Given the description of an element on the screen output the (x, y) to click on. 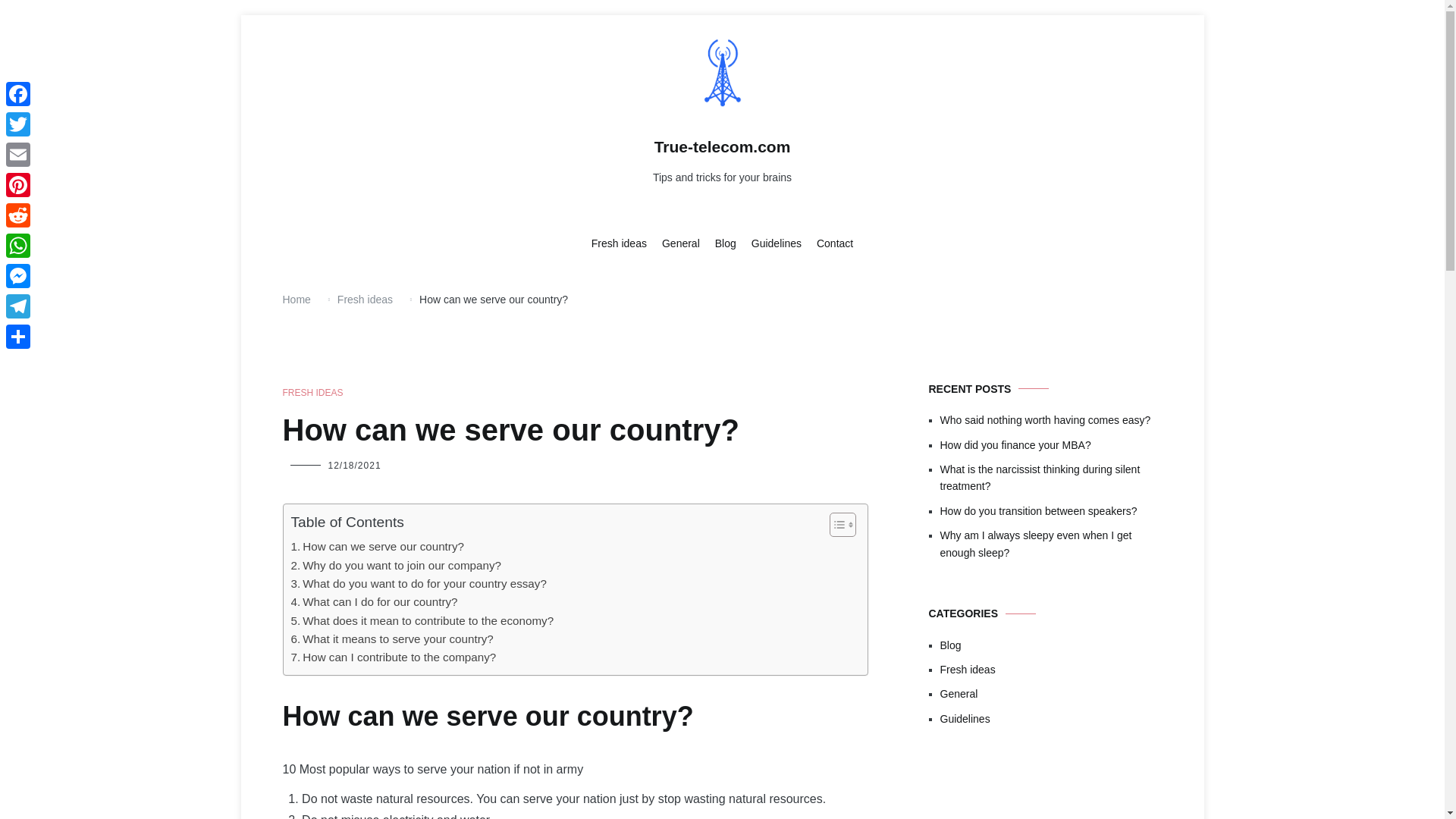
What do you want to do for your country essay? (419, 583)
Contact (834, 244)
How did you finance your MBA? (1050, 444)
True-telecom.com (721, 146)
Why do you want to join our company? (395, 565)
Guidelines (776, 244)
Fresh ideas (618, 244)
Home (296, 299)
How can we serve our country? (377, 546)
How can I contribute to the company? (393, 657)
Fresh ideas (365, 299)
How can we serve our country? (377, 546)
What do you want to do for your country essay? (419, 583)
What does it mean to contribute to the economy? (422, 620)
